Given the description of an element on the screen output the (x, y) to click on. 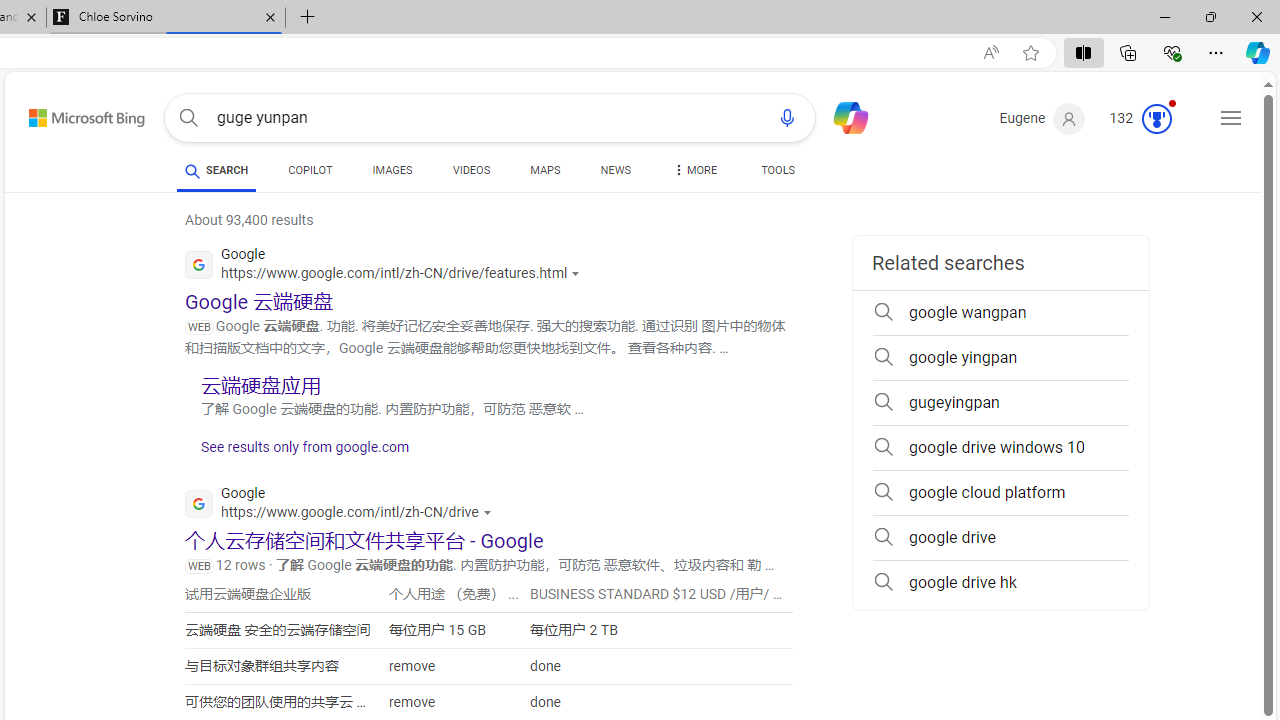
MORE (693, 173)
COPILOT (310, 170)
gugeyingpan (1000, 402)
google drive hk (1000, 582)
COPILOT (310, 173)
Dropdown Menu (693, 170)
IMAGES (392, 173)
Actions for this site (489, 512)
VIDEOS (471, 170)
Search button (188, 117)
Skip to content (65, 111)
